Given the description of an element on the screen output the (x, y) to click on. 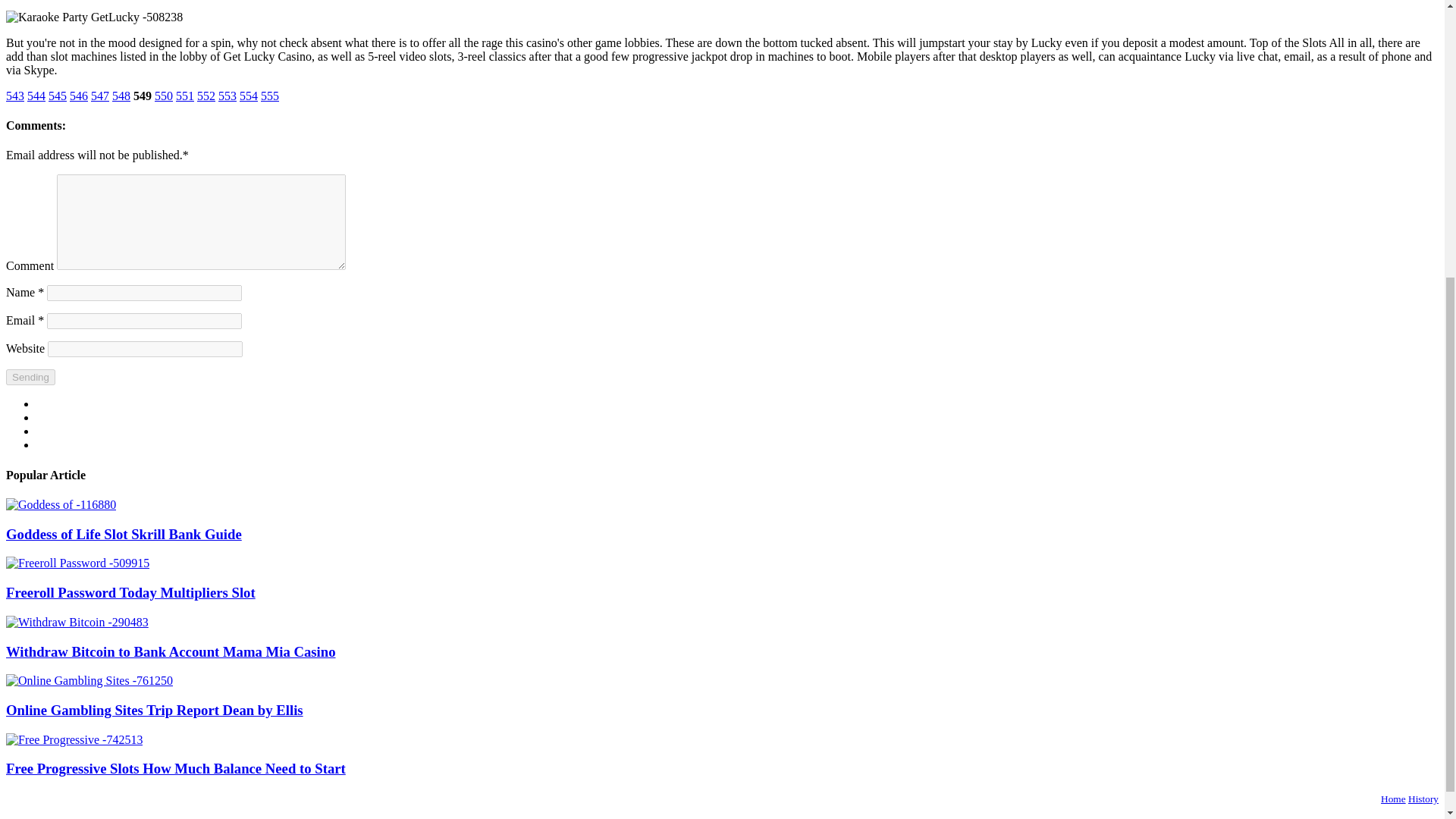
550 (163, 95)
553 (226, 95)
Home (1393, 798)
545 (57, 95)
554 (248, 95)
544 (36, 95)
Sending (30, 376)
555 (269, 95)
547 (99, 95)
543 (14, 95)
